Given the description of an element on the screen output the (x, y) to click on. 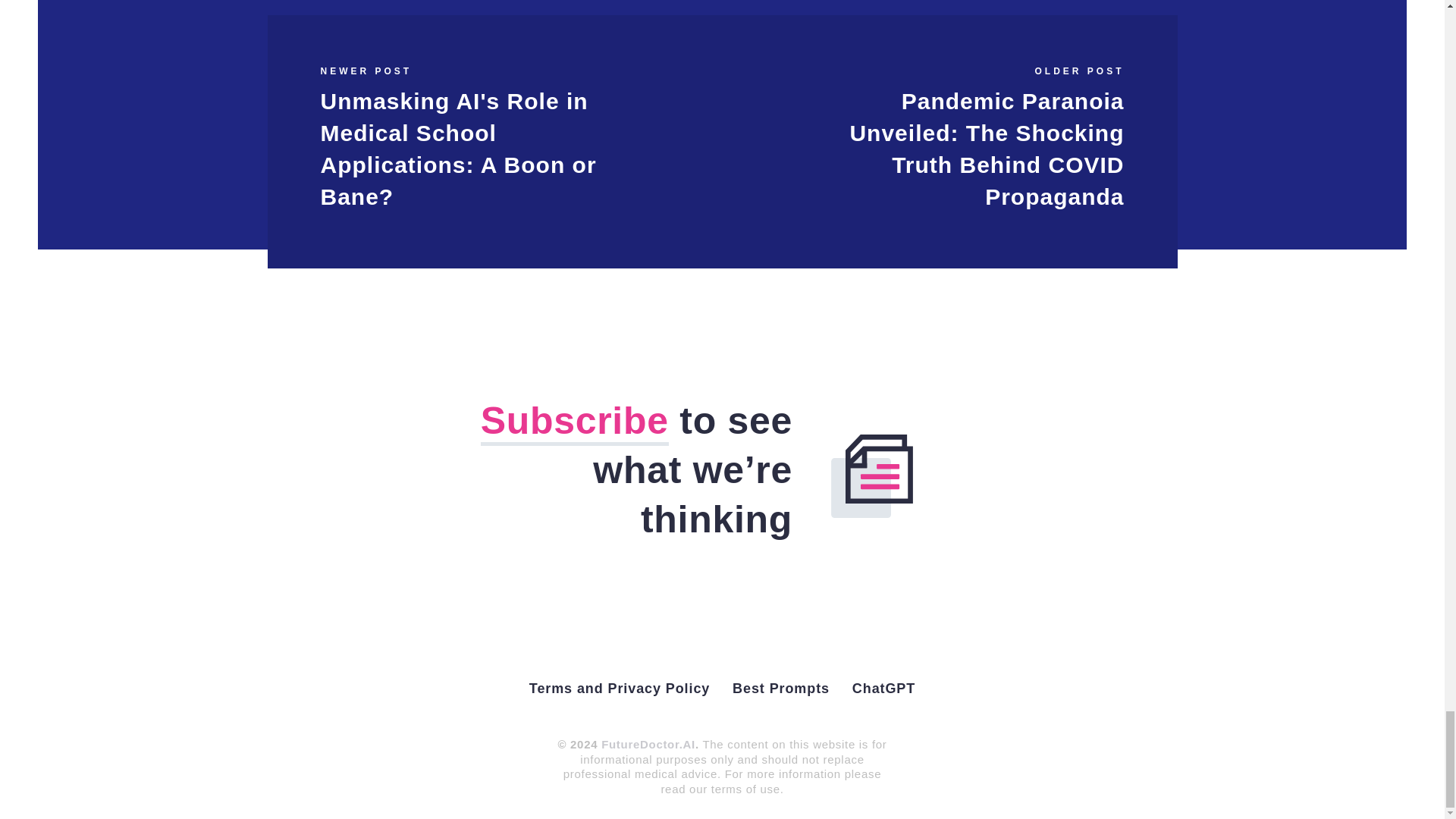
FutureDoctor.AI (648, 744)
Subscribe (574, 422)
ChatGPT (883, 688)
Terms and Privacy Policy (619, 688)
Best Prompts (780, 688)
